Given the description of an element on the screen output the (x, y) to click on. 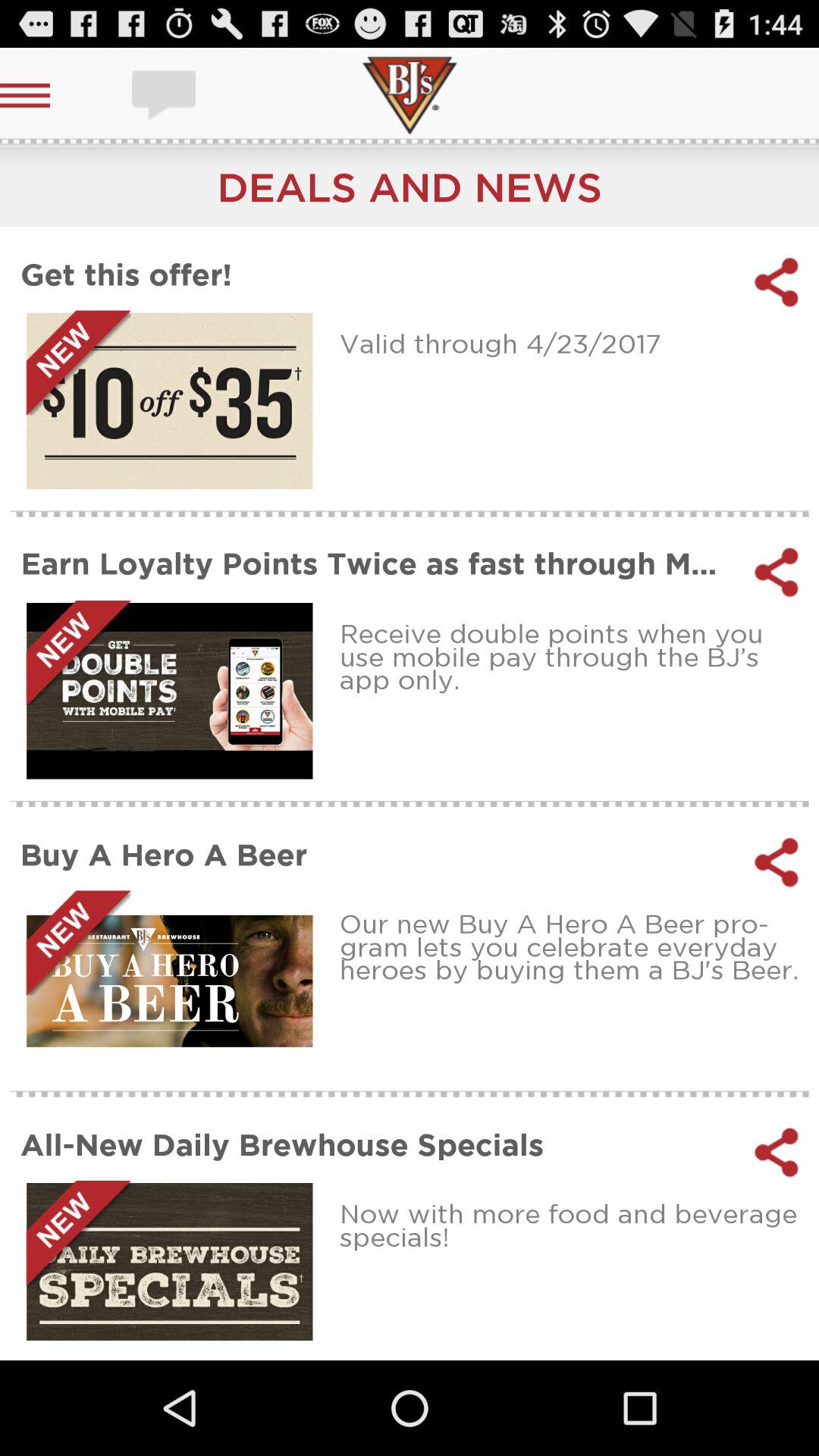
tap now with more item (573, 1225)
